Given the description of an element on the screen output the (x, y) to click on. 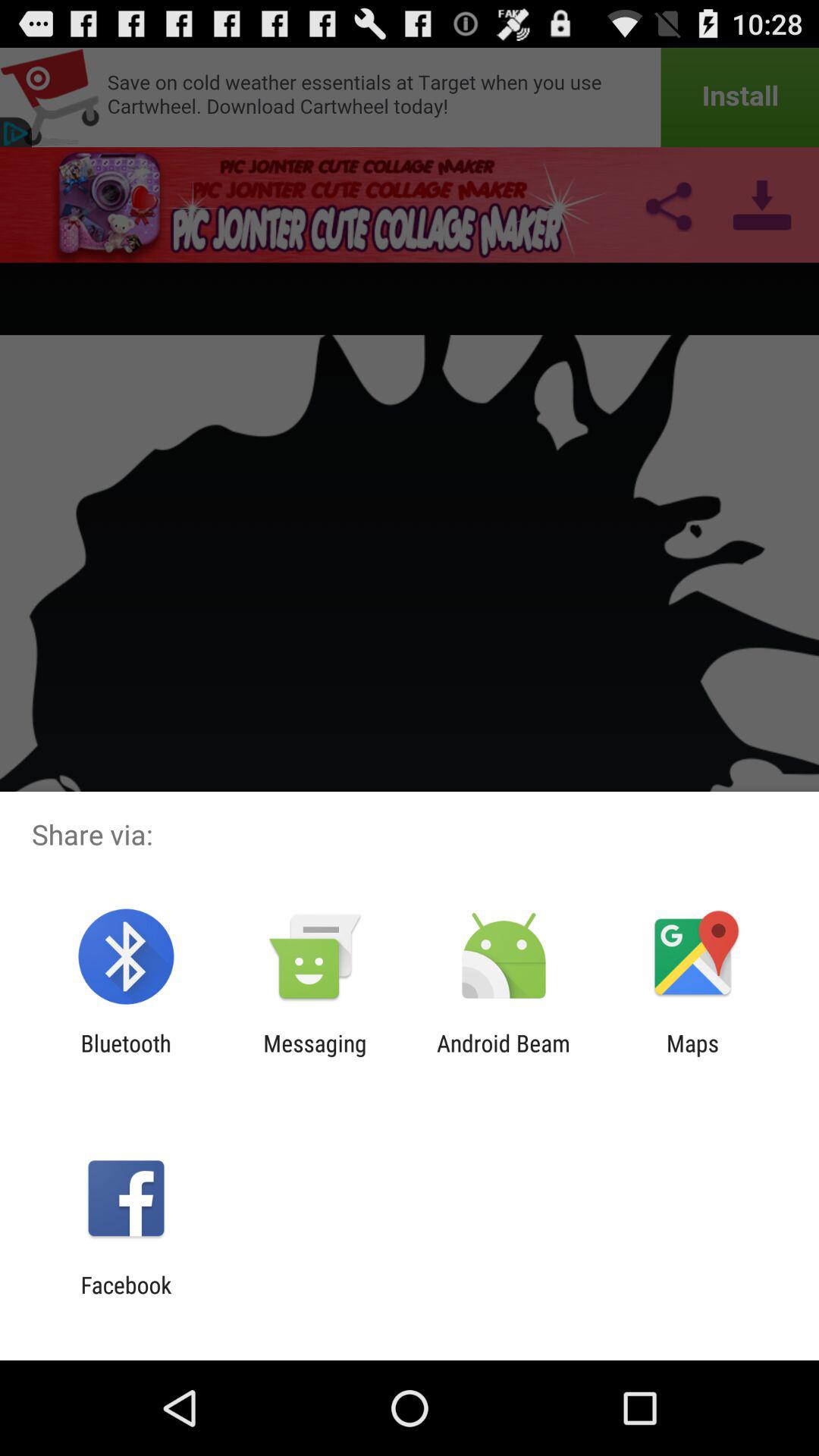
click icon to the left of the messaging icon (125, 1056)
